Given the description of an element on the screen output the (x, y) to click on. 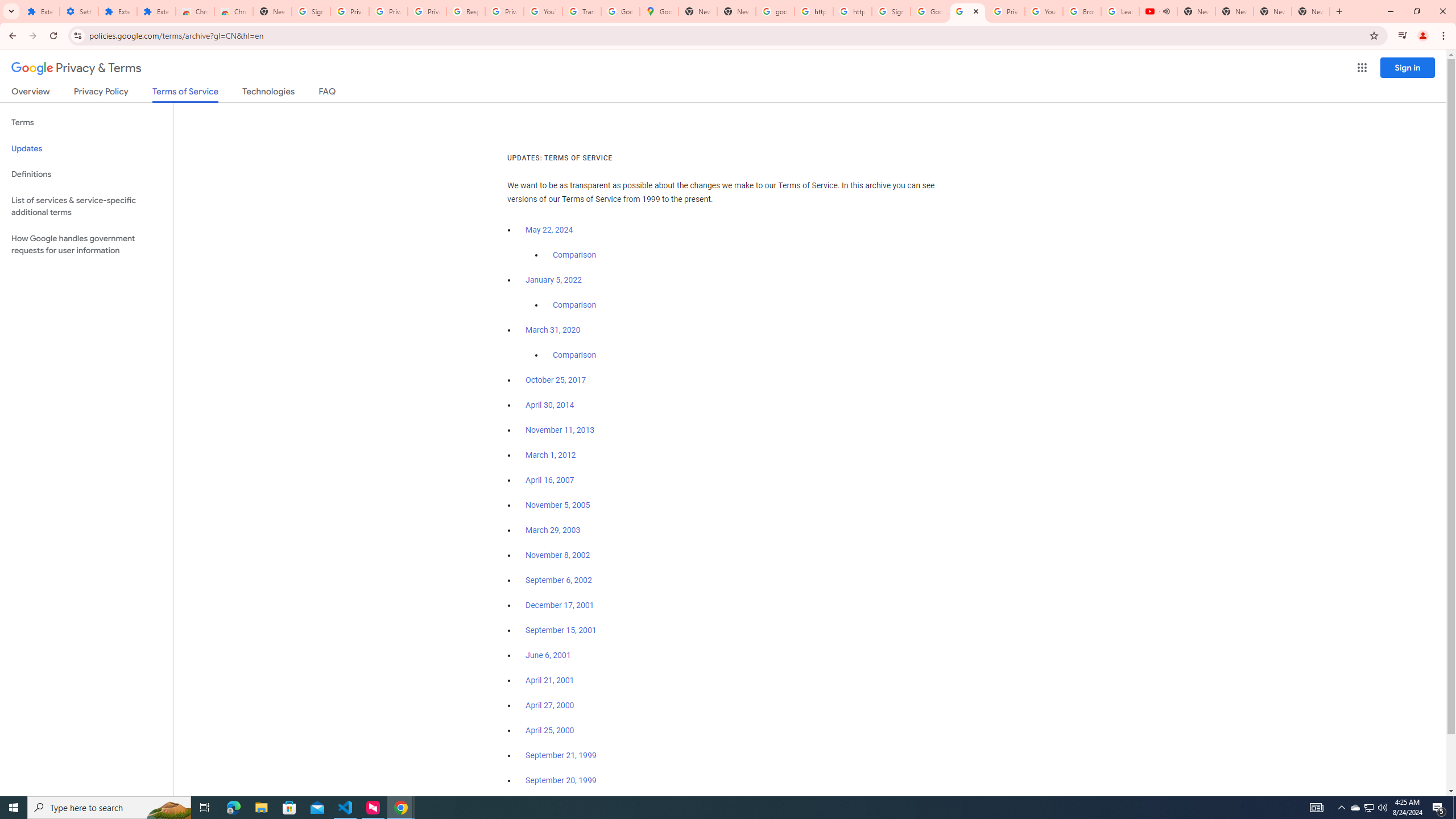
Google Maps (659, 11)
March 29, 2003 (552, 530)
March 1, 2012 (550, 455)
Sign in - Google Accounts (890, 11)
